Given the description of an element on the screen output the (x, y) to click on. 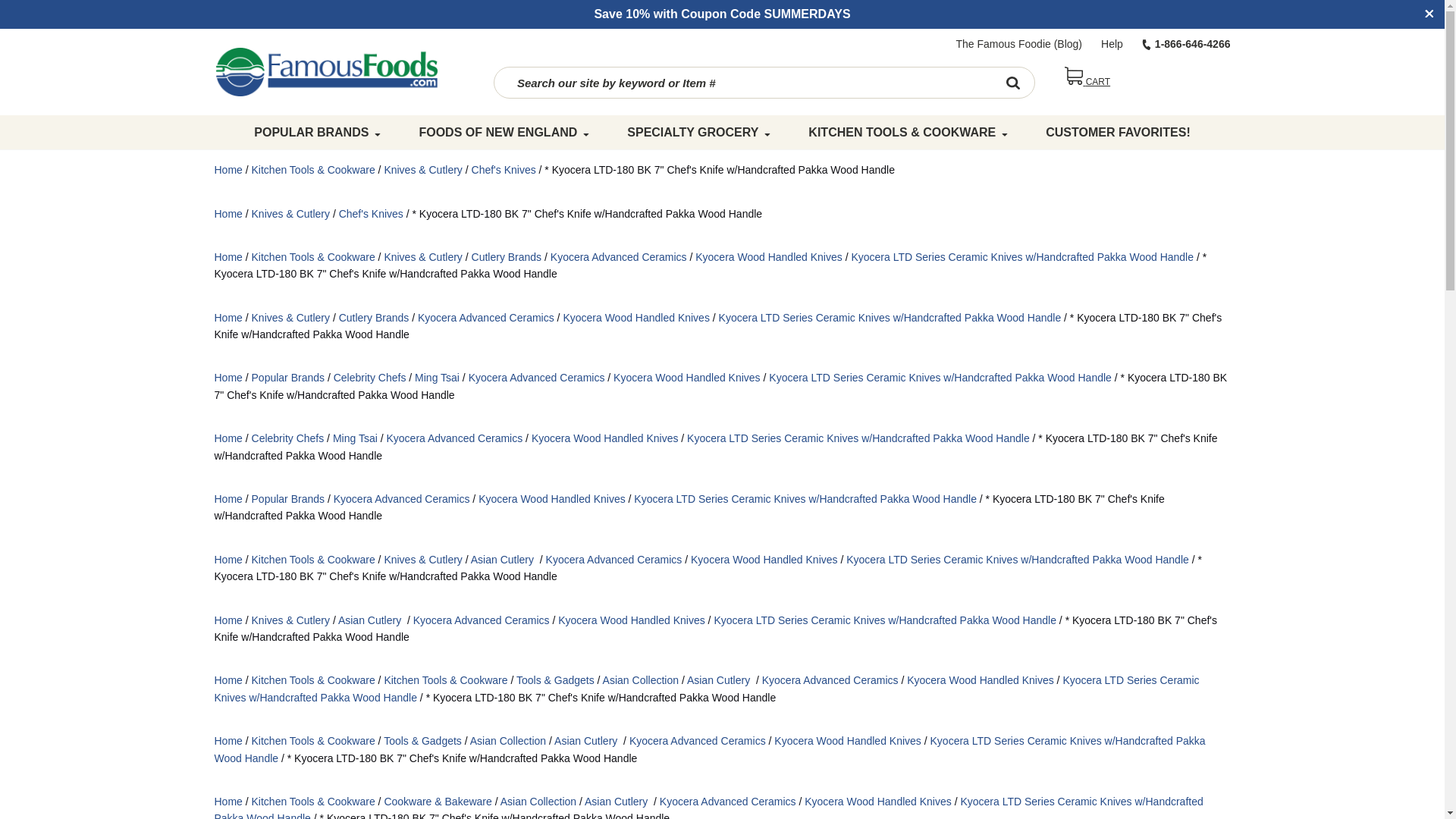
1-866-646-4266 (1176, 43)
POPULAR BRANDS (316, 132)
CART (1086, 81)
Help (1101, 43)
